Given the description of an element on the screen output the (x, y) to click on. 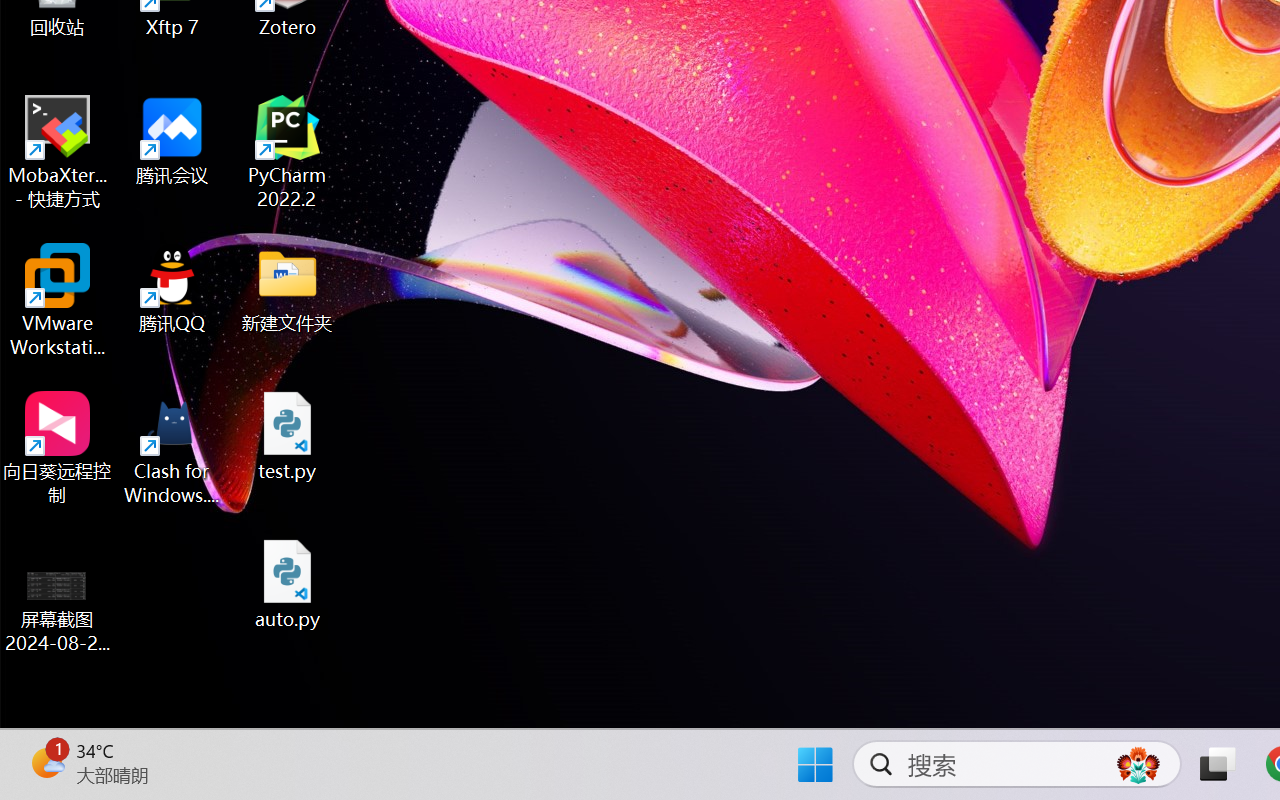
auto.py (287, 584)
test.py (287, 436)
